Given the description of an element on the screen output the (x, y) to click on. 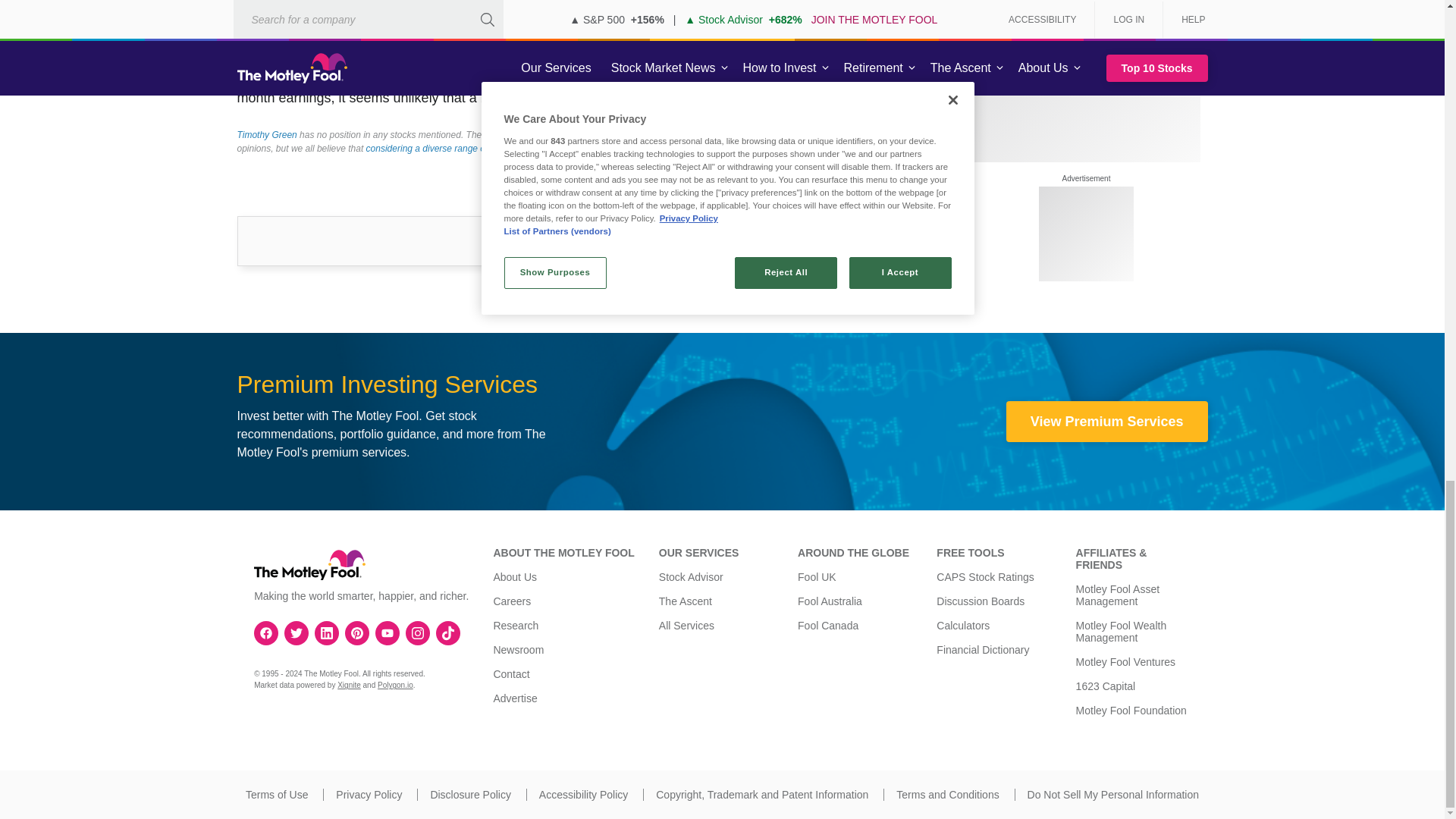
Do Not Sell My Personal Information. (1112, 794)
Copyright, Trademark and Patent Information (761, 794)
Disclosure Policy (470, 794)
Privacy Policy (368, 794)
Terms of Use (276, 794)
Accessibility Policy (582, 794)
Terms and Conditions (947, 794)
